Given the description of an element on the screen output the (x, y) to click on. 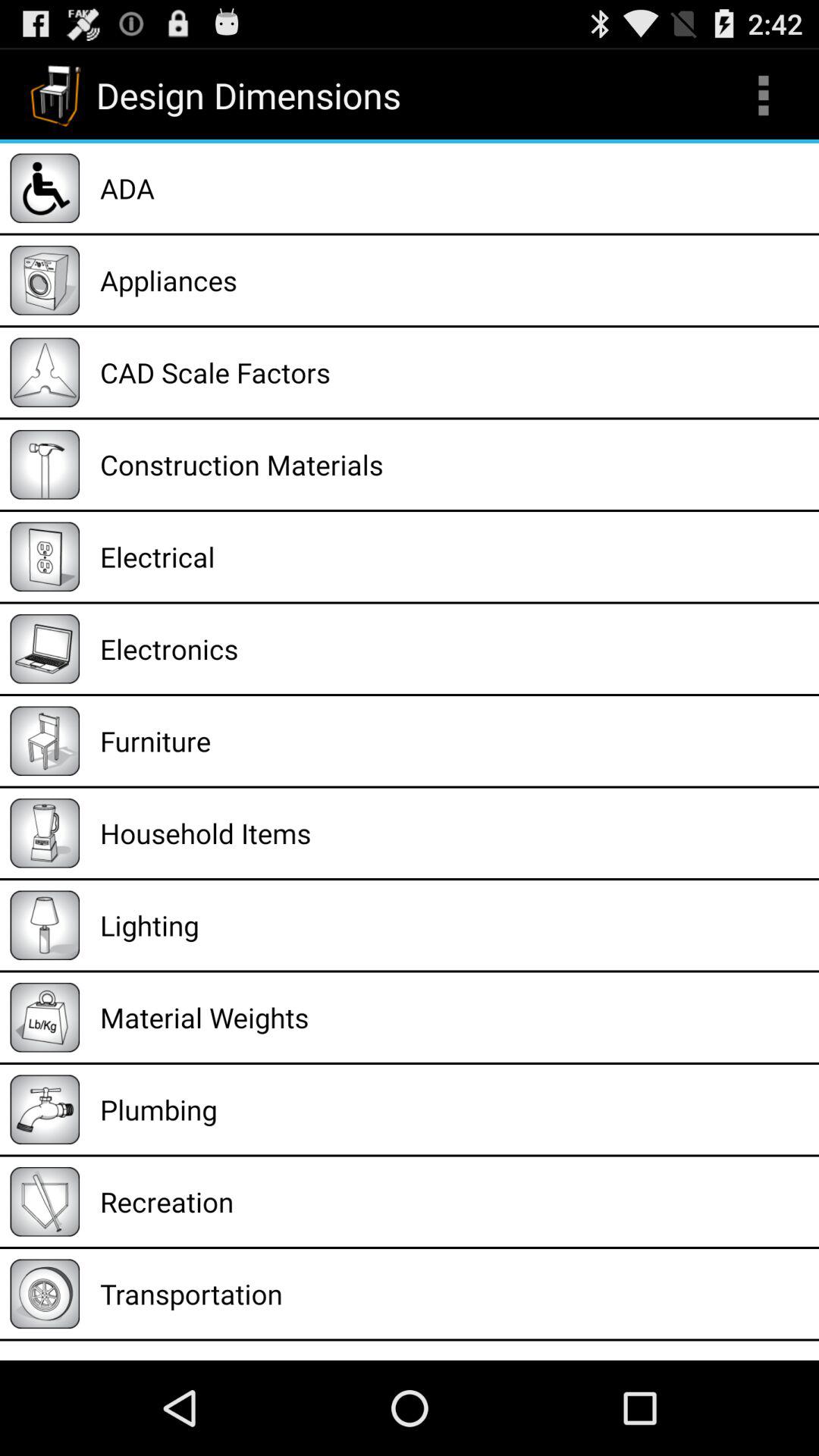
flip to furniture app (454, 741)
